Given the description of an element on the screen output the (x, y) to click on. 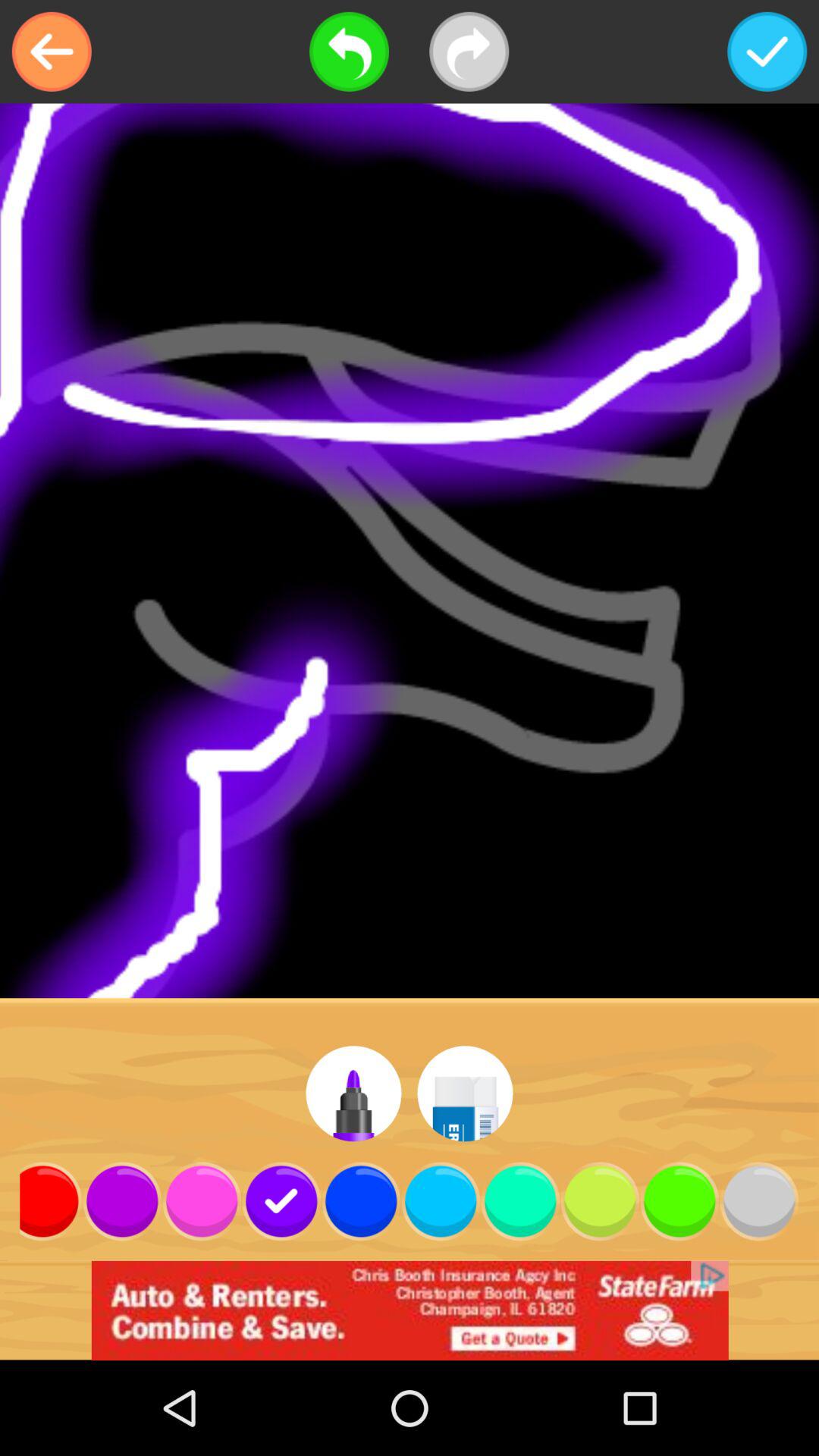
go forward (469, 51)
